Given the description of an element on the screen output the (x, y) to click on. 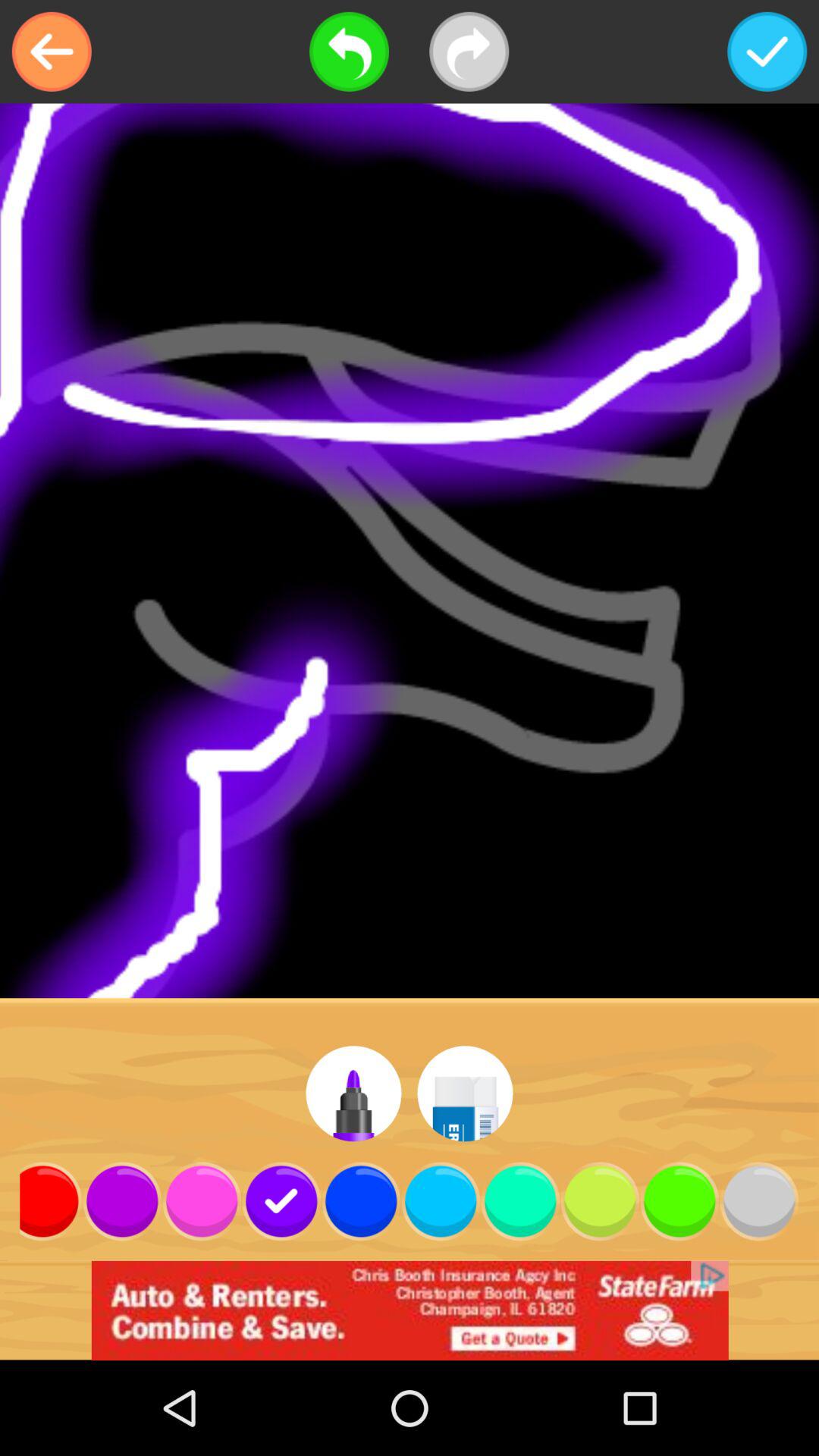
go forward (469, 51)
